Given the description of an element on the screen output the (x, y) to click on. 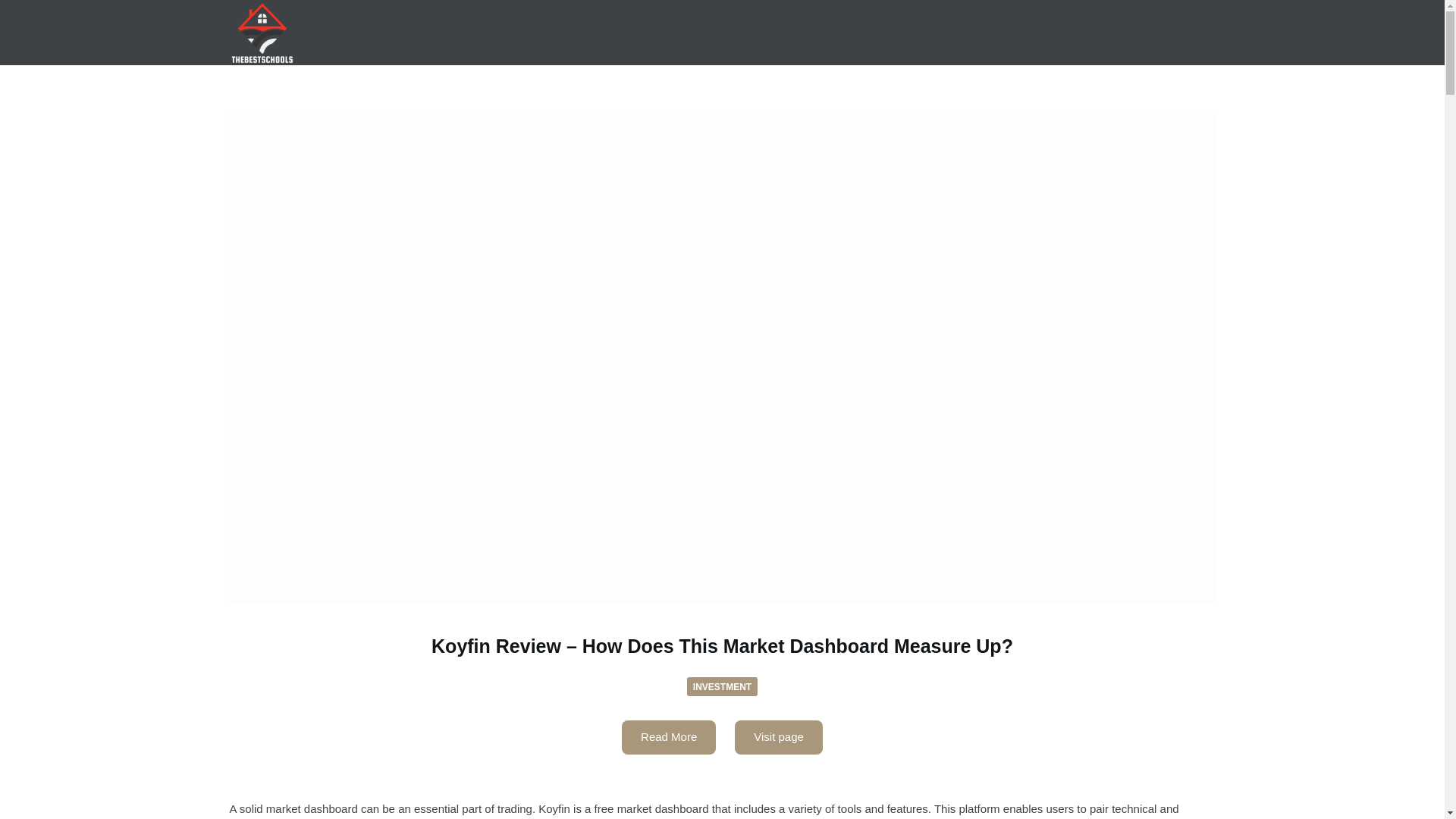
PRIVACY POLICY (393, 32)
CONTACT (472, 32)
Visit page (778, 737)
Skip to content (15, 7)
Read More (668, 737)
INVESTMENT (722, 686)
